Given the description of an element on the screen output the (x, y) to click on. 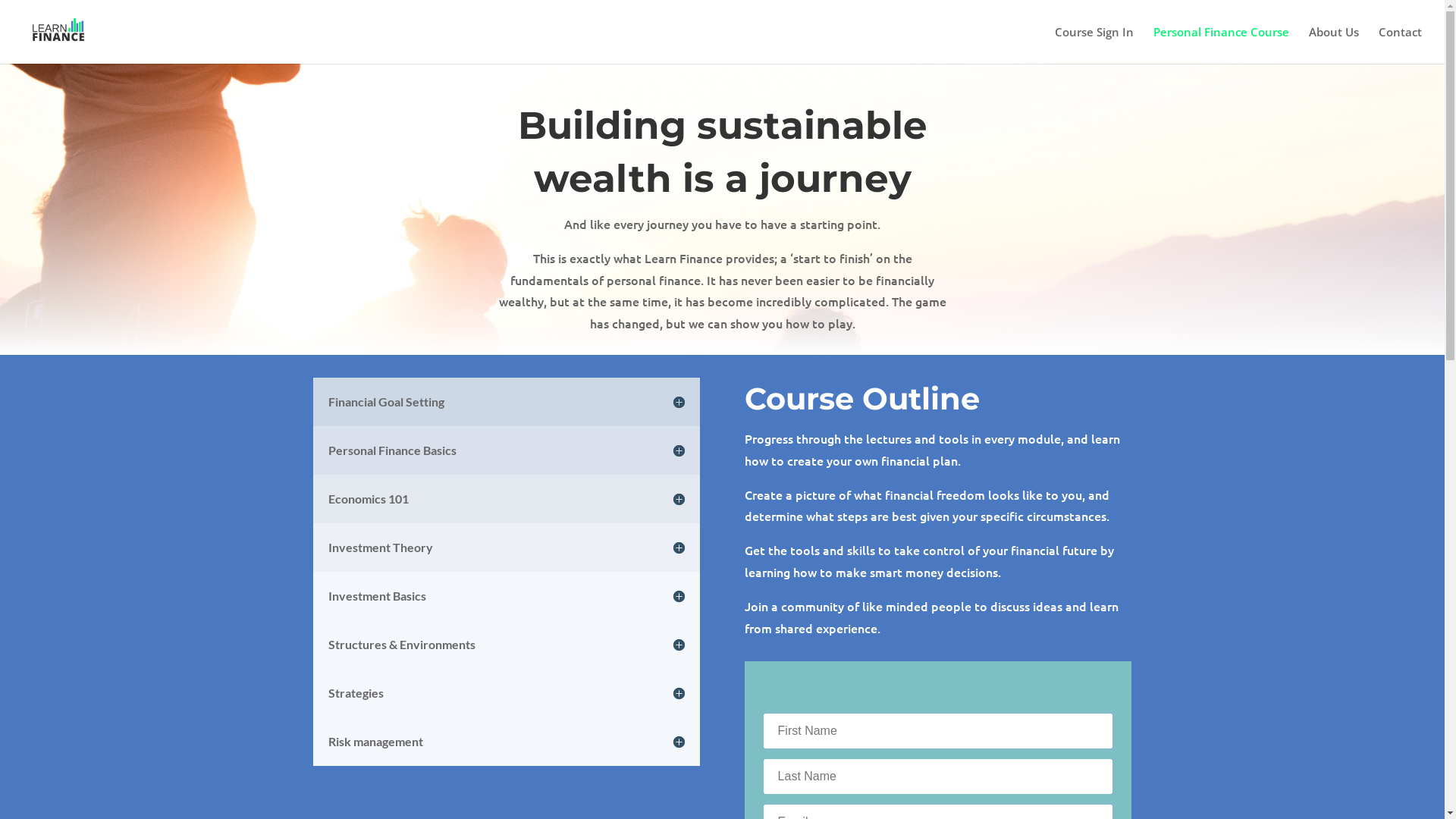
Personal Finance Course Element type: text (1221, 44)
Course Sign In Element type: text (1093, 44)
Contact Element type: text (1399, 44)
About Us Element type: text (1333, 44)
